Given the description of an element on the screen output the (x, y) to click on. 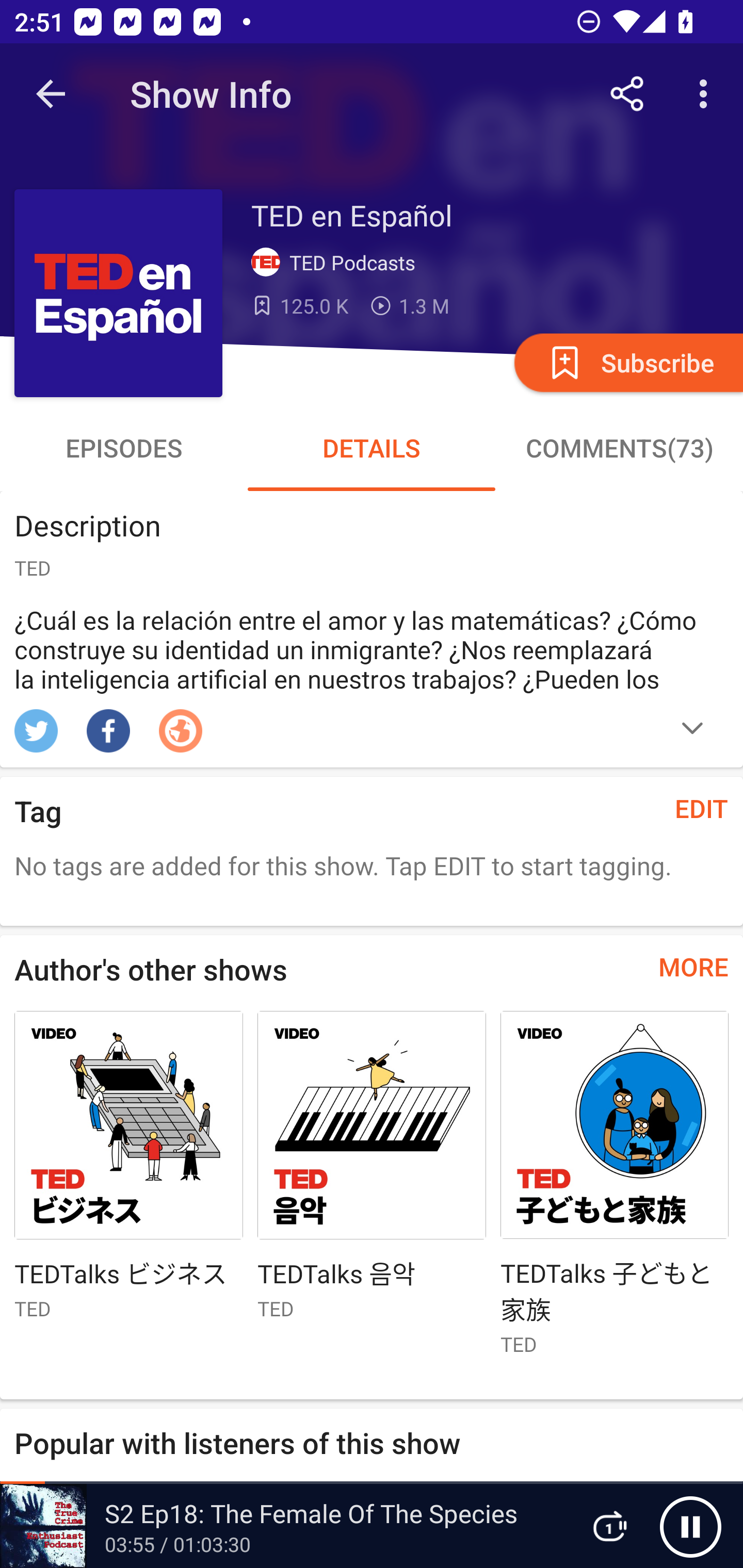
Navigate up (50, 93)
Share (626, 93)
More options (706, 93)
TED Podcasts (337, 262)
Subscribe (627, 361)
EPISODES (123, 447)
DETAILS (371, 447)
COMMENTS(73) (619, 447)
 (692, 730)
EDIT (701, 807)
MORE (693, 966)
TEDTalks ビジネス TEDTalks ビジネス TED (128, 1173)
TEDTalks 음악 TEDTalks 음악 TED (371, 1173)
TEDTalks 子どもと家族 TEDTalks 子どもと家族 TED (614, 1191)
Pause (690, 1526)
